Given the description of an element on the screen output the (x, y) to click on. 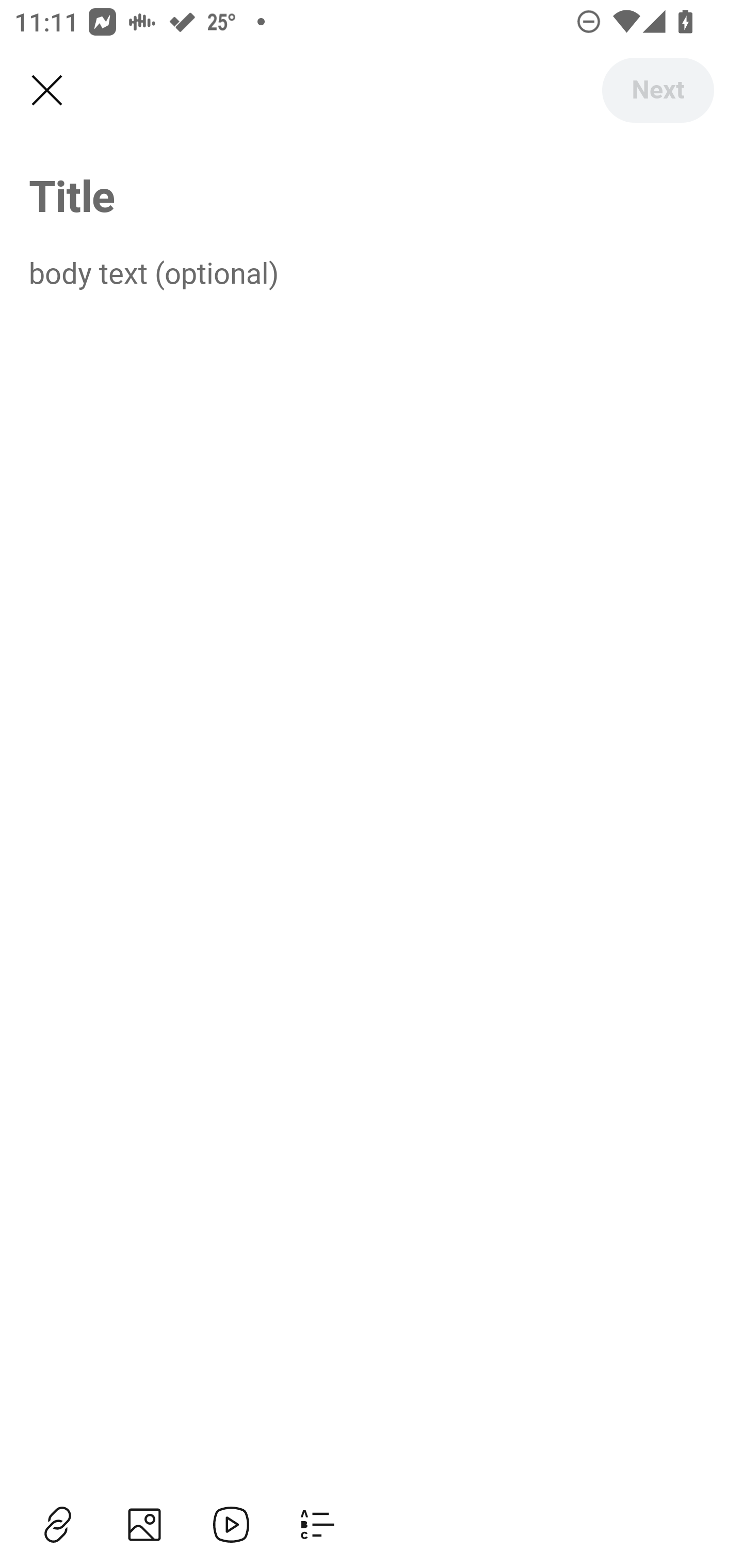
Close (46, 90)
Next (657, 90)
Post title (371, 195)
body text (optional) (371, 271)
